Given the description of an element on the screen output the (x, y) to click on. 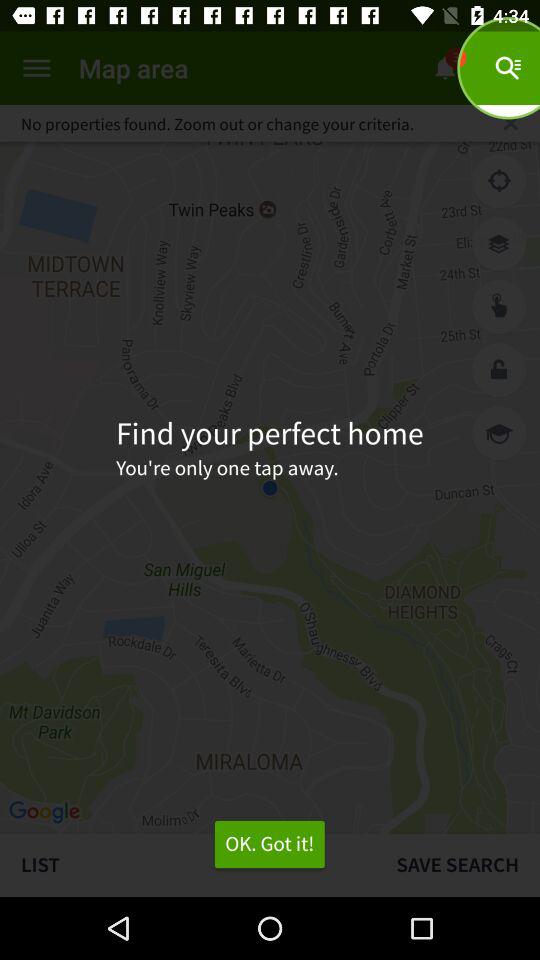
click the item next to find your perfect icon (499, 432)
